Given the description of an element on the screen output the (x, y) to click on. 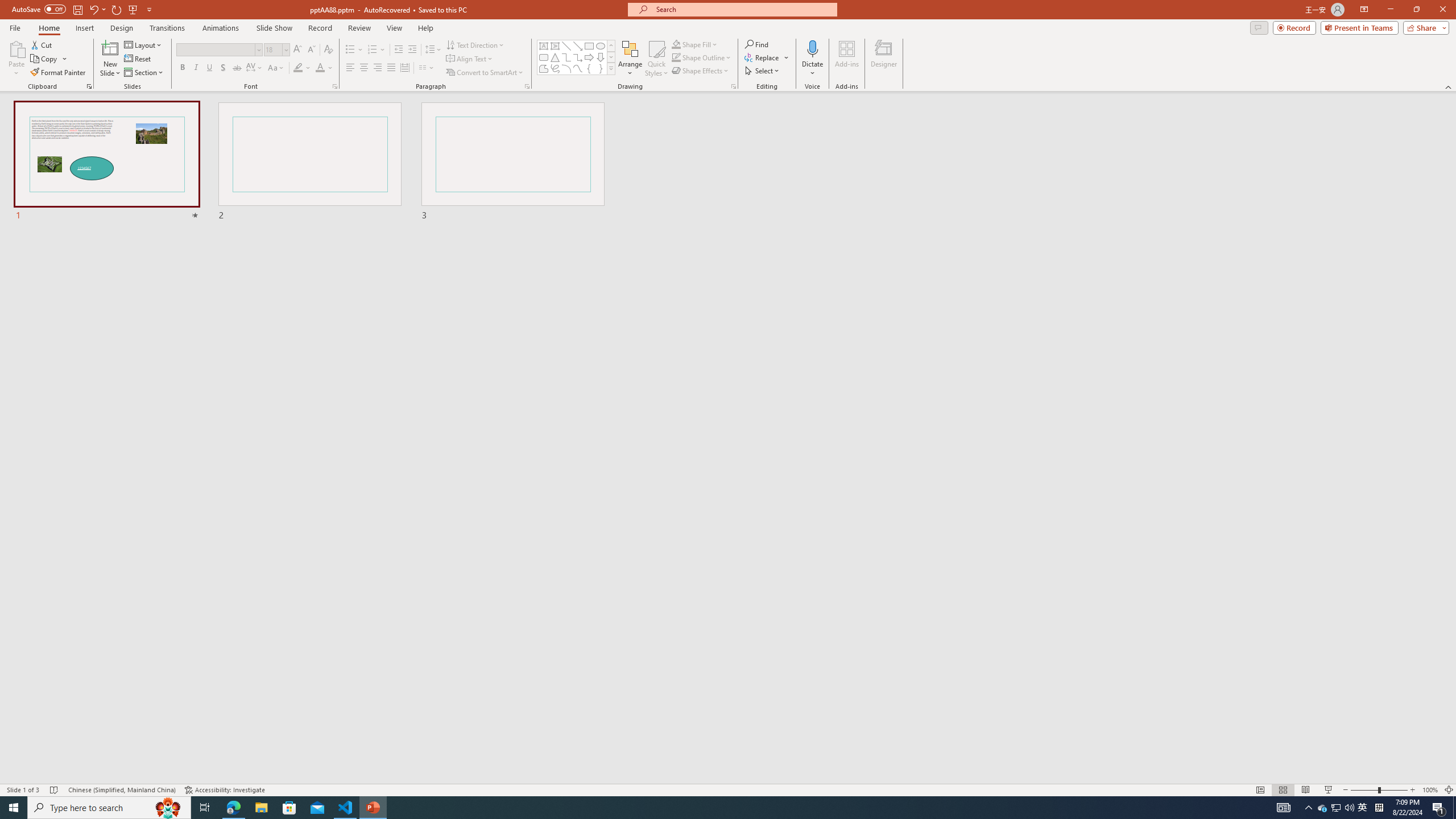
Zoom 100% (1430, 790)
